Given the description of an element on the screen output the (x, y) to click on. 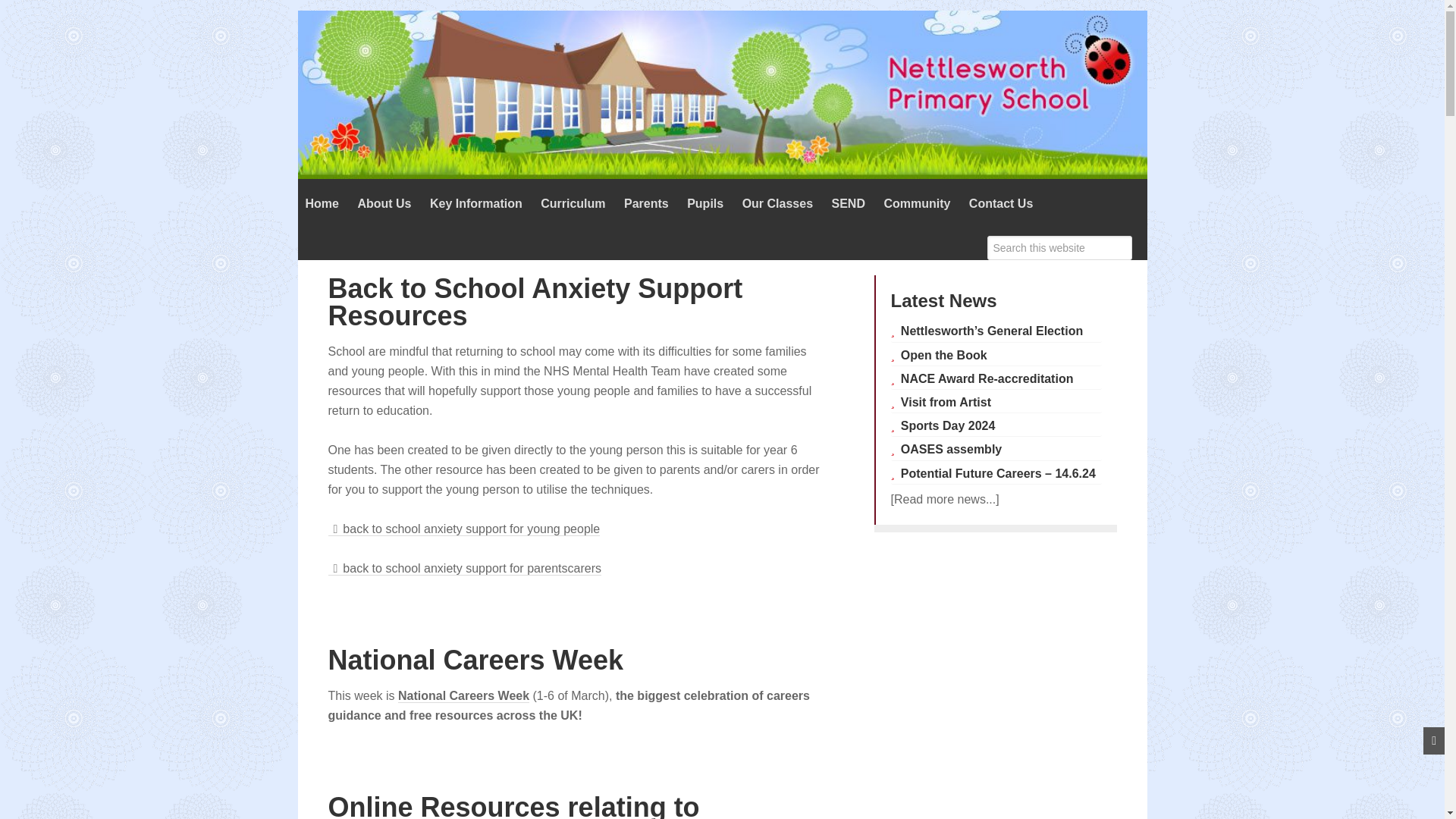
News (943, 499)
